Given the description of an element on the screen output the (x, y) to click on. 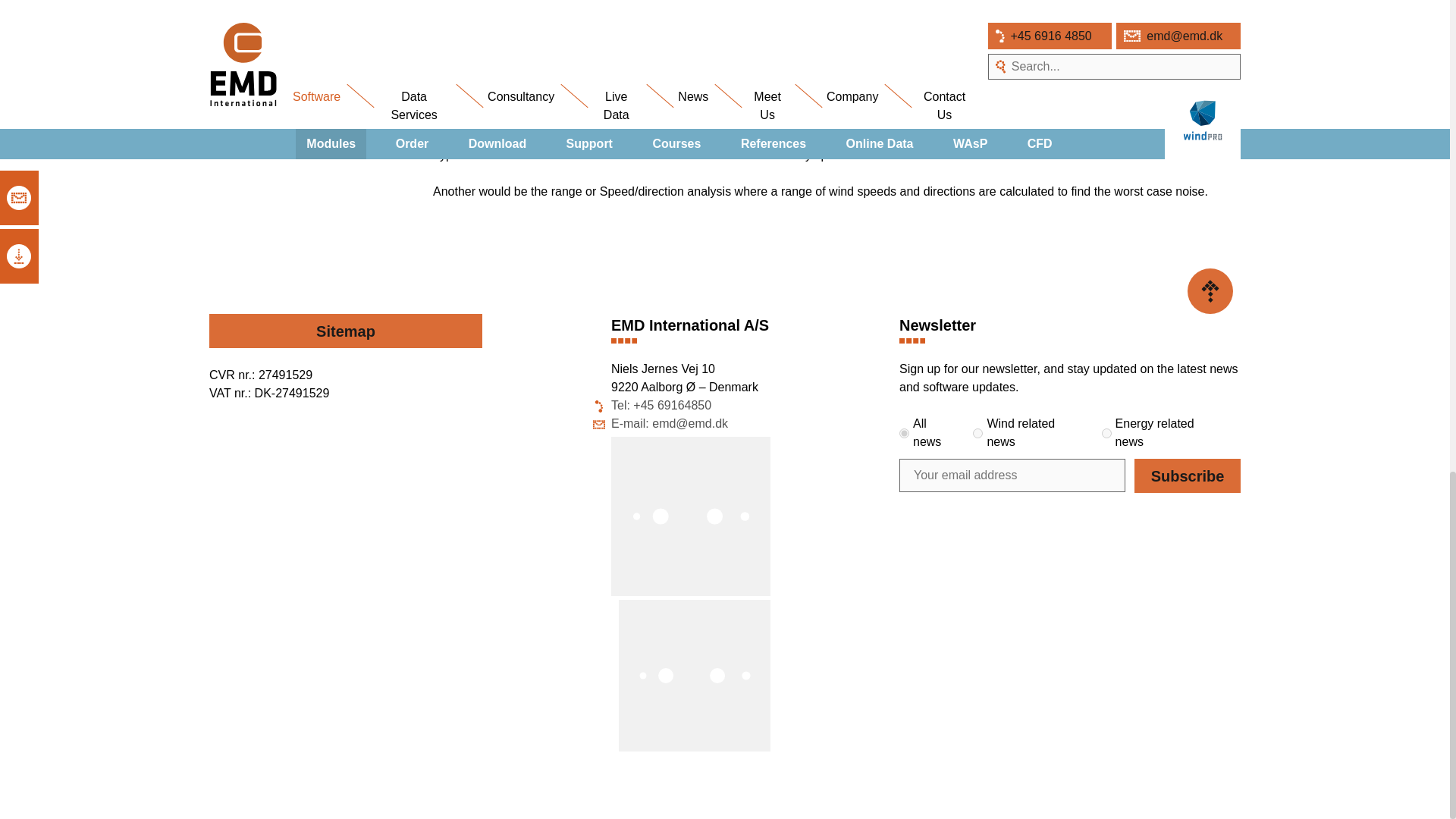
wind (977, 433)
energy (1107, 433)
all (903, 433)
